Given the description of an element on the screen output the (x, y) to click on. 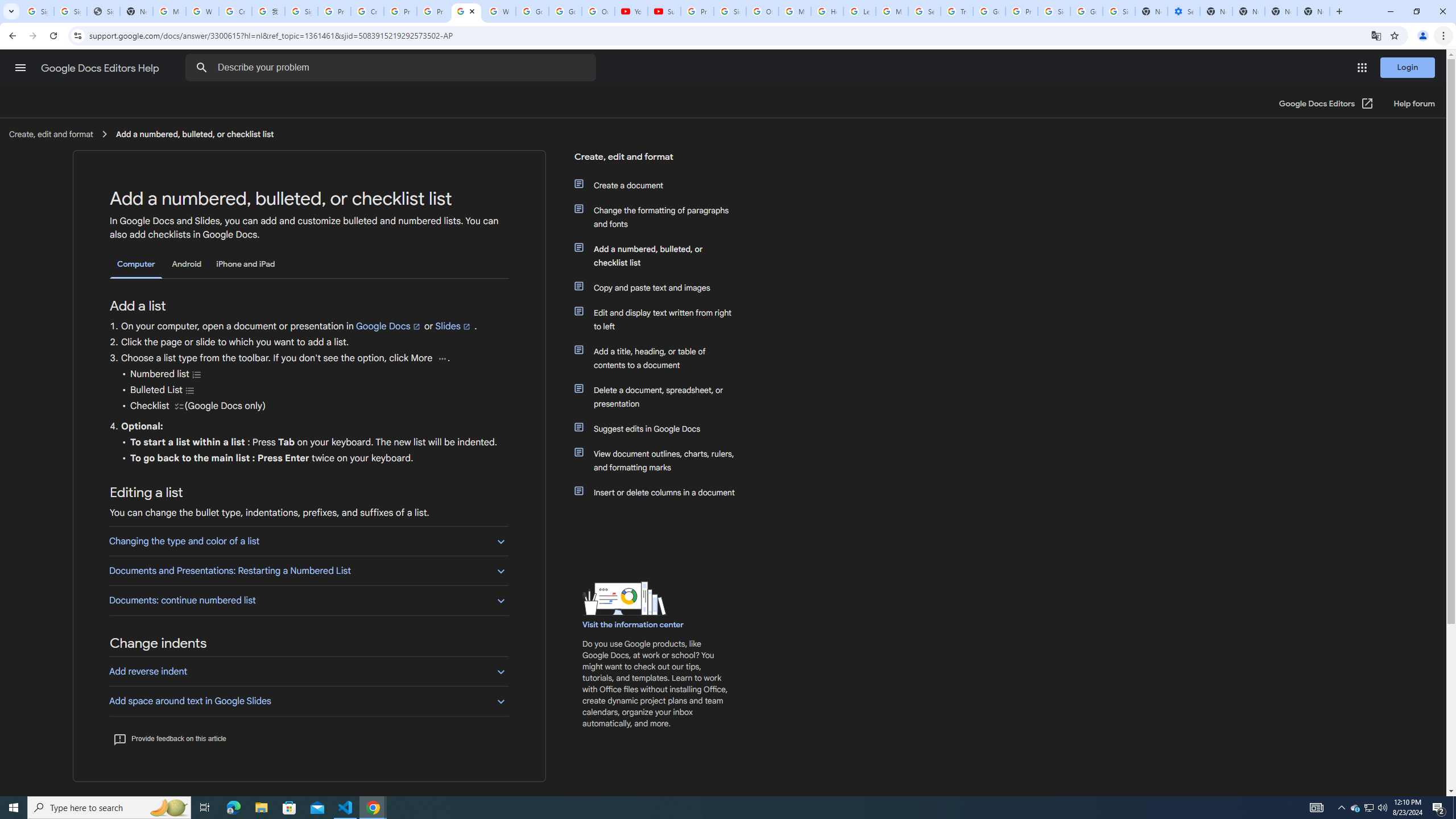
Reload (52, 35)
Sign In - USA TODAY (103, 11)
Provide feedback on this article (169, 738)
Close (472, 11)
Add a numbered, bulleted, or checklist list (661, 255)
Create a document (661, 185)
Google Cybersecurity Innovations - Google Safety Center (1086, 11)
Bookmark this tab (1393, 35)
View site information (77, 35)
Who is my administrator? - Google Account Help (202, 11)
Settings - Performance (1183, 11)
